Given the description of an element on the screen output the (x, y) to click on. 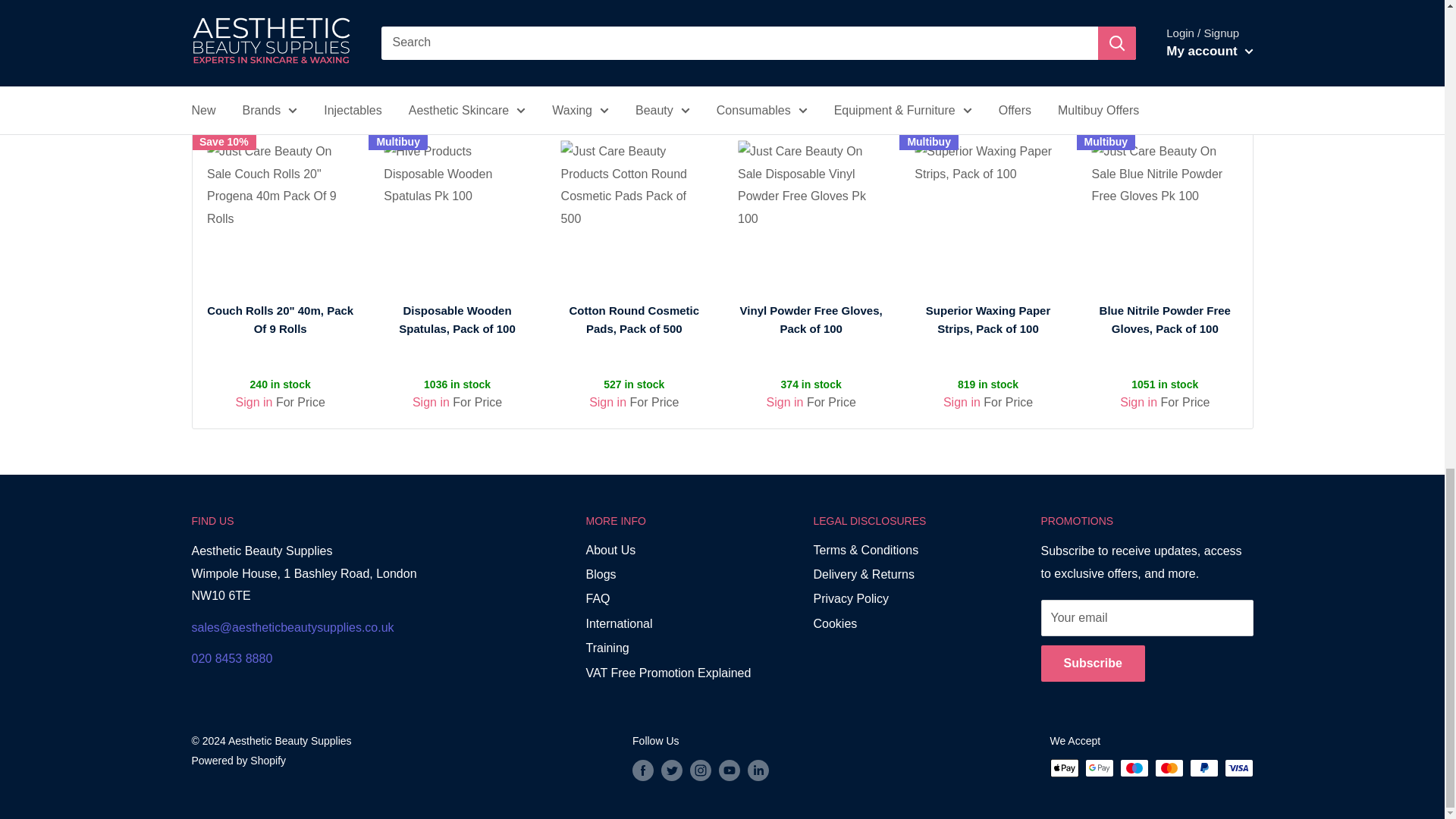
tel:02084538880 (231, 658)
